Given the description of an element on the screen output the (x, y) to click on. 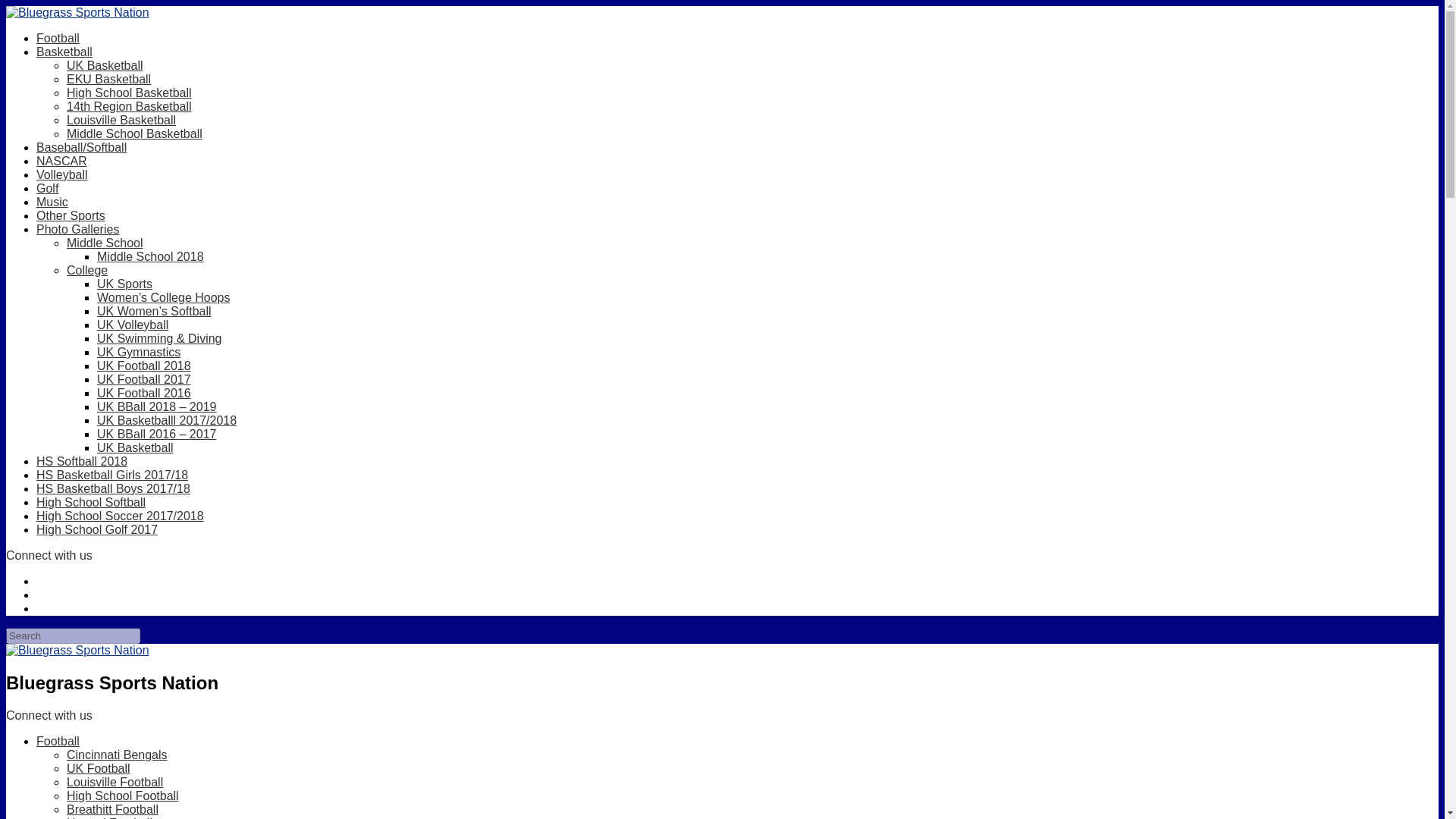
14th Region Basketball (129, 106)
UK Football 2017 (143, 379)
NASCAR (61, 160)
UK Football 2016 (143, 392)
High School Softball (90, 502)
Middle School 2018 (150, 256)
Golf (47, 187)
Basketball (64, 51)
Football (58, 38)
High School Basketball (129, 92)
